Given the description of an element on the screen output the (x, y) to click on. 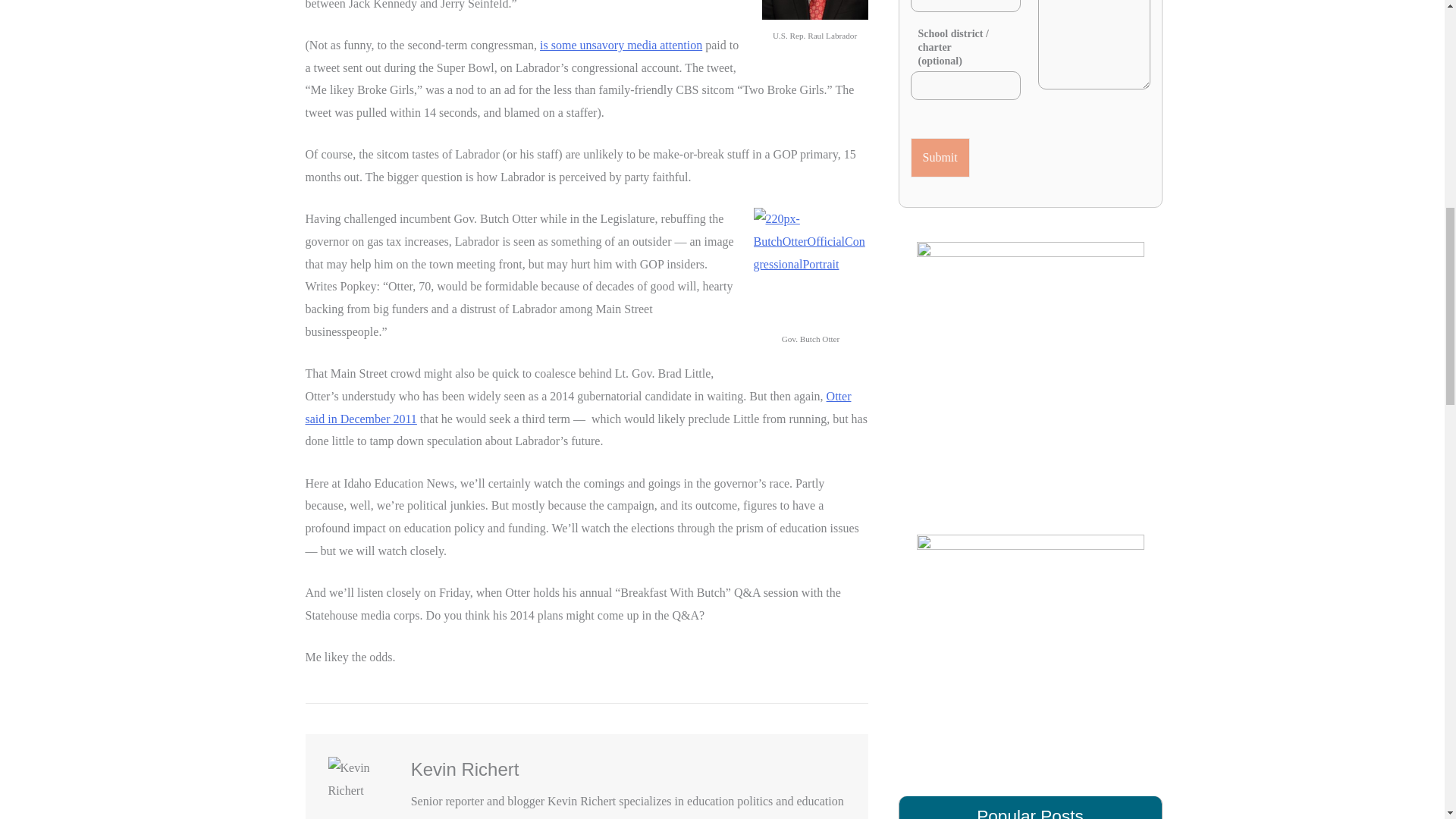
Otter said in December 2011 (577, 407)
is some unsavory media attention (620, 44)
Submit (939, 157)
